Given the description of an element on the screen output the (x, y) to click on. 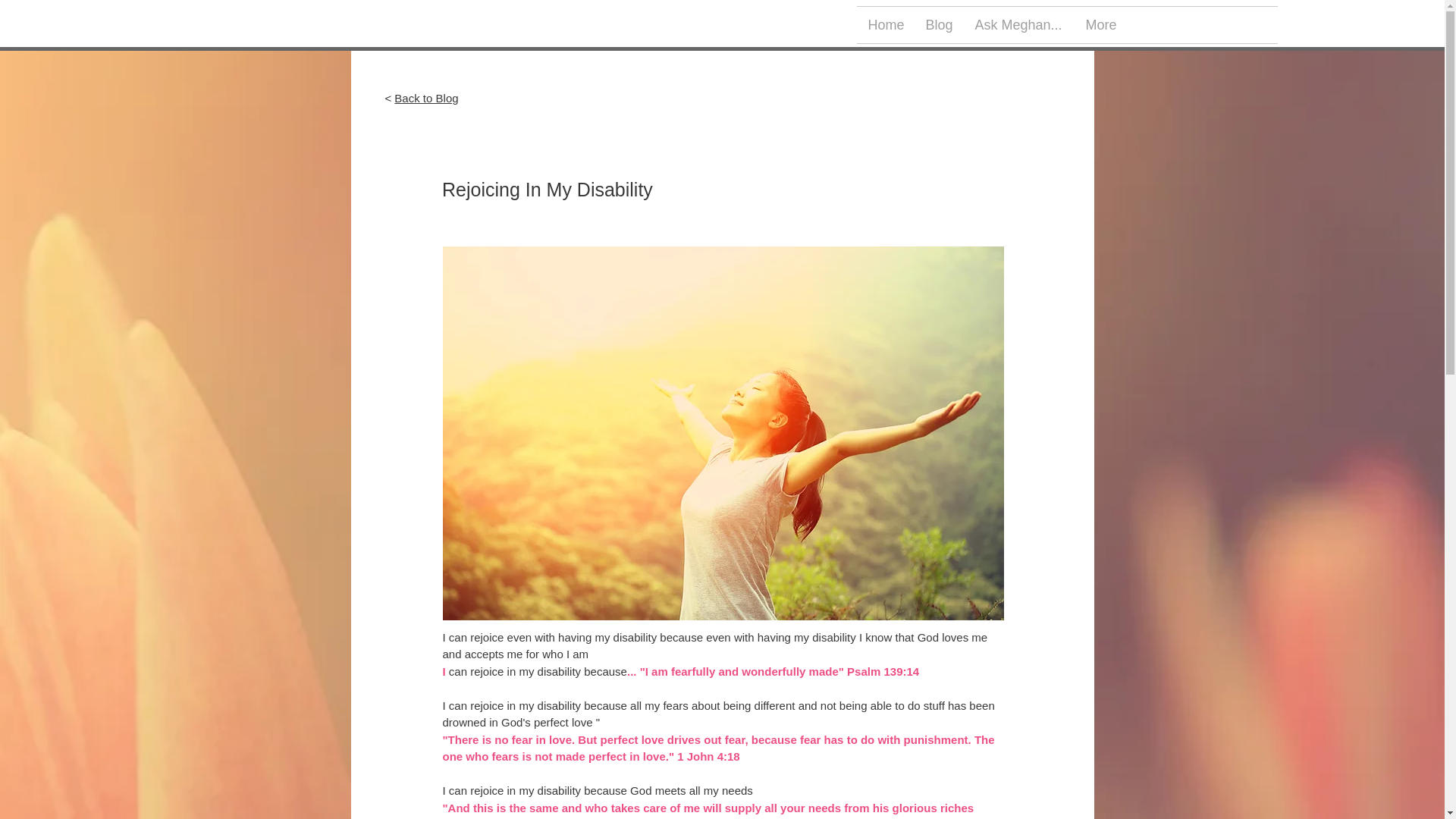
Blog (938, 24)
Home (885, 24)
Back to Blog (426, 97)
Ask Meghan... (1018, 24)
